Given the description of an element on the screen output the (x, y) to click on. 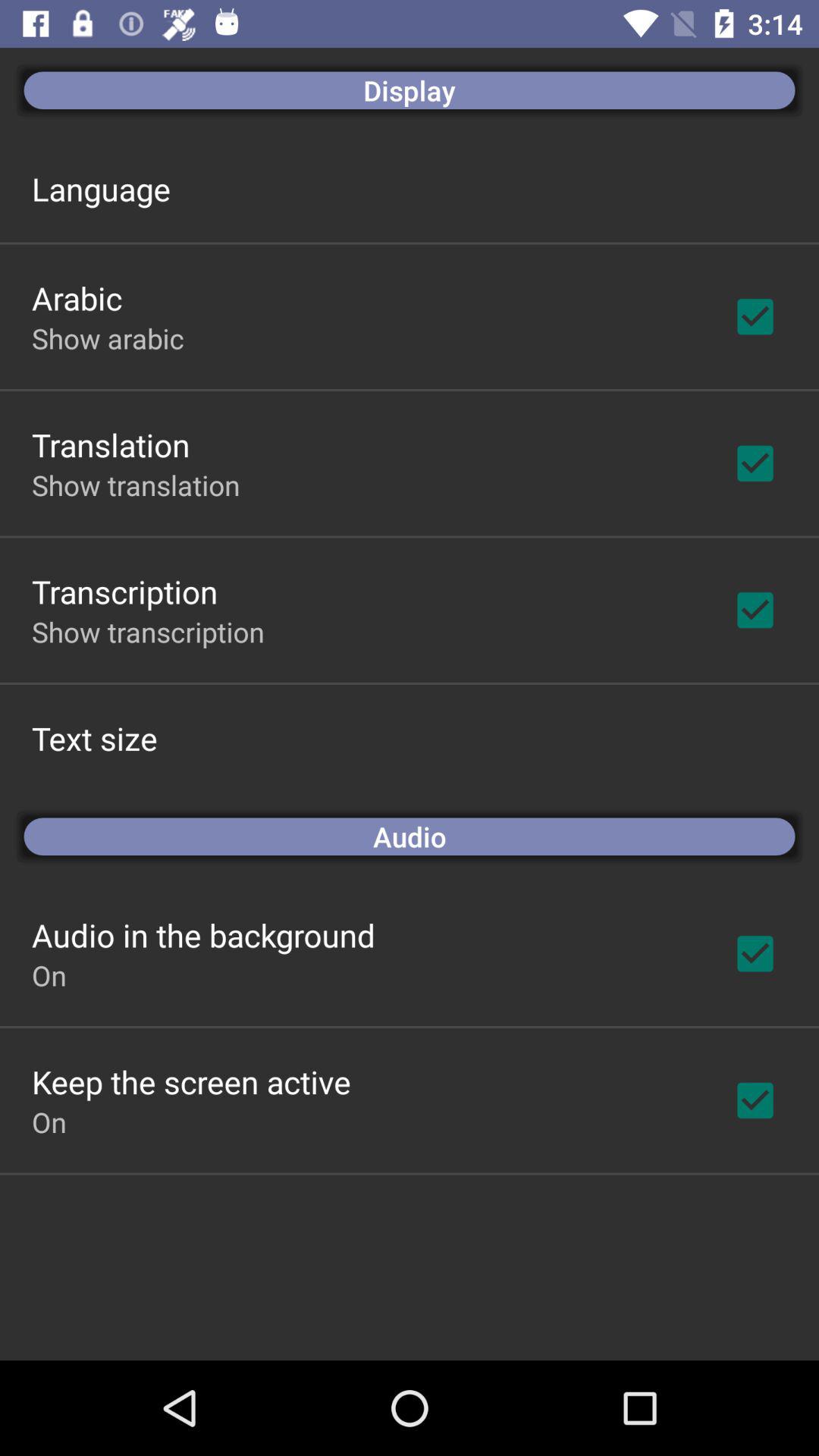
click item below translation icon (135, 484)
